Given the description of an element on the screen output the (x, y) to click on. 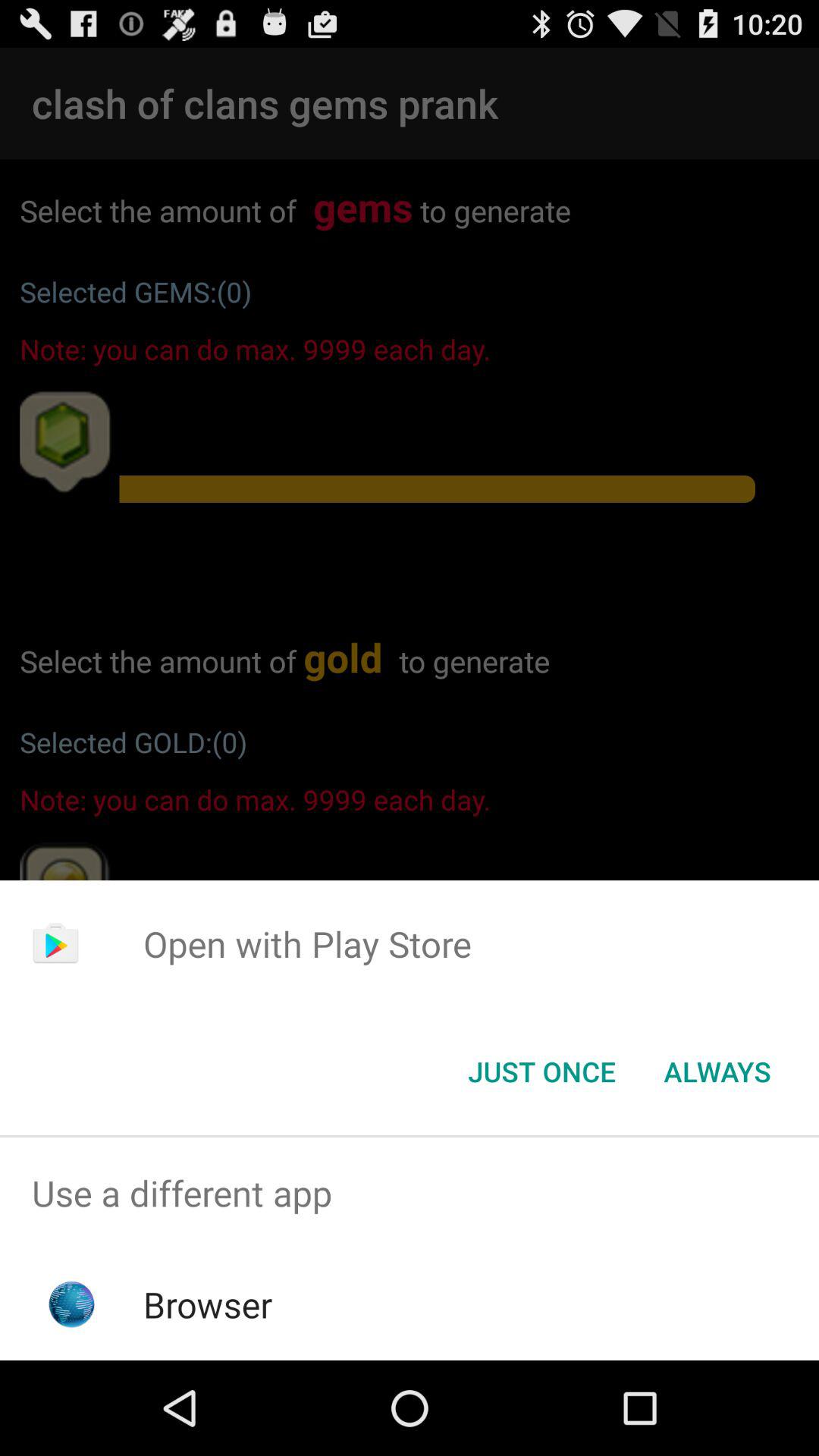
tap the icon below open with play item (541, 1071)
